Given the description of an element on the screen output the (x, y) to click on. 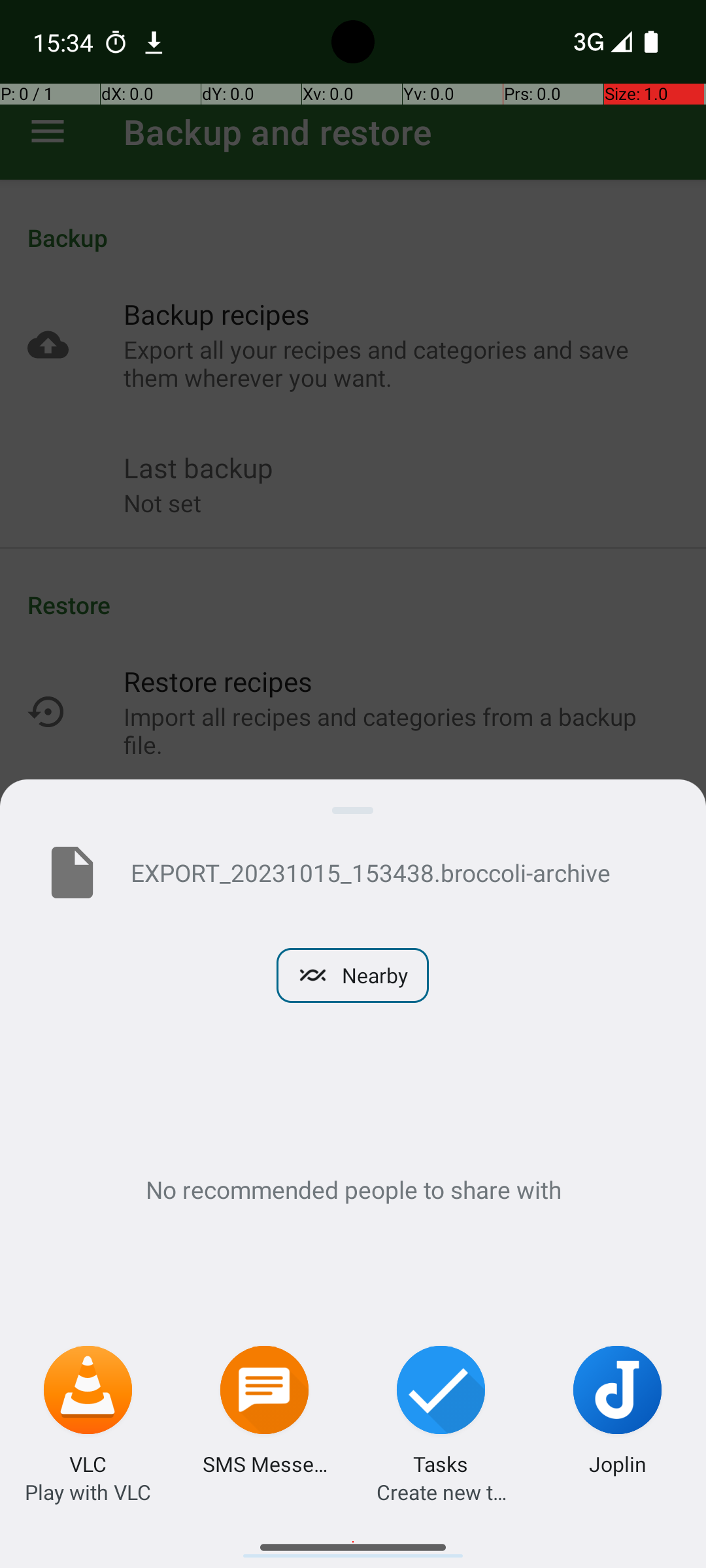
EXPORT_20231015_153438.broccoli-archive Element type: android.widget.TextView (397, 872)
